Given the description of an element on the screen output the (x, y) to click on. 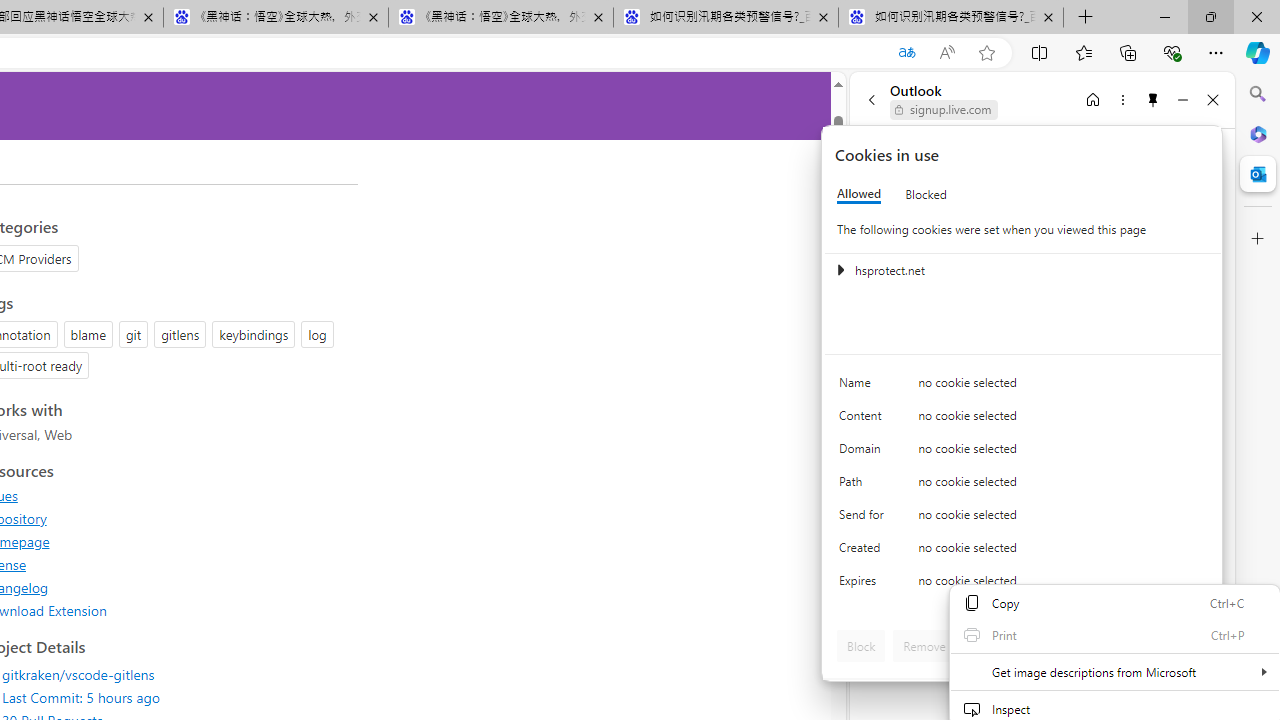
Blocked (925, 193)
Done (1179, 645)
Class: c0153 c0157 c0154 (1023, 386)
